Given the description of an element on the screen output the (x, y) to click on. 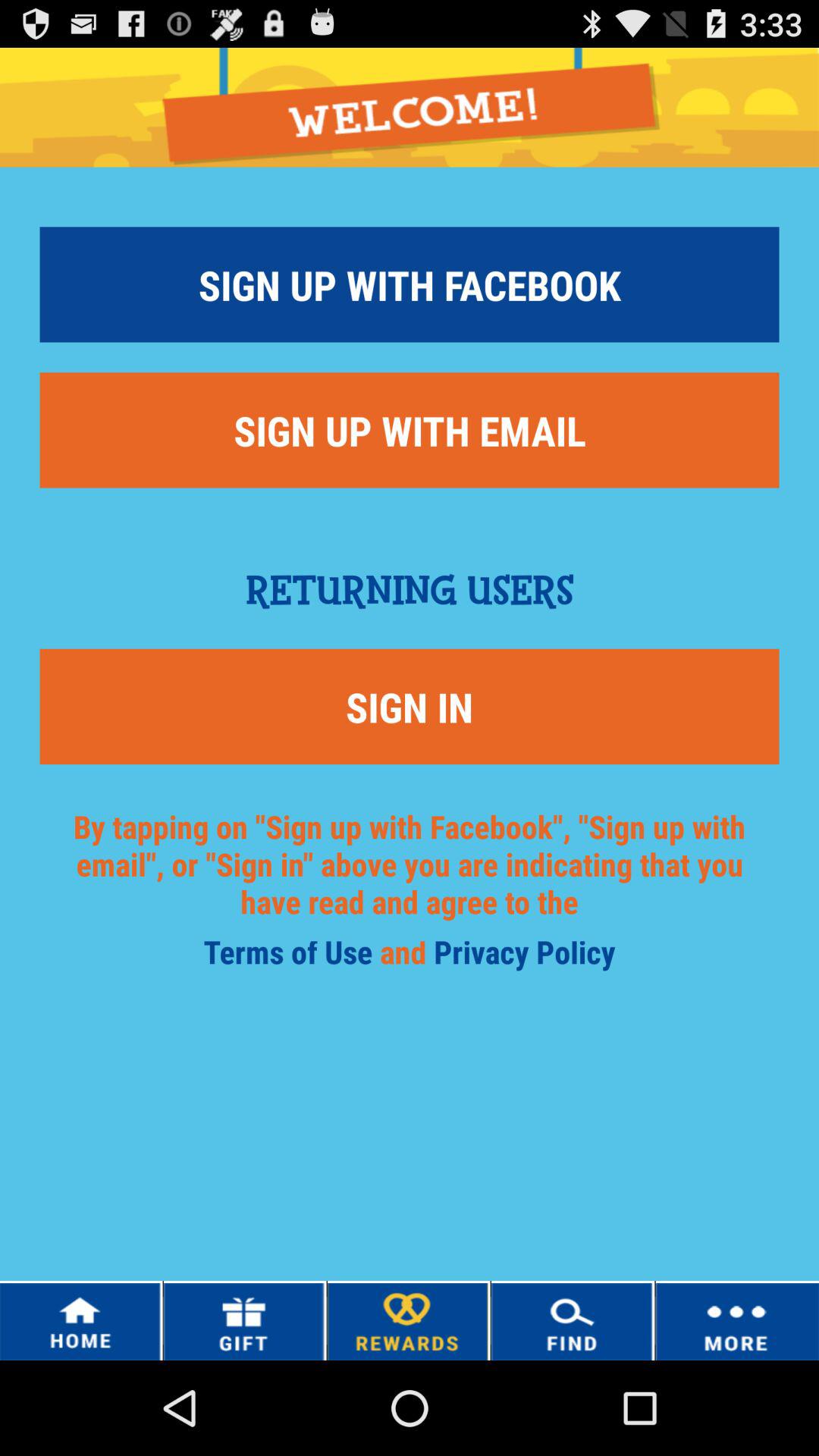
swipe until privacy policy (524, 957)
